Given the description of an element on the screen output the (x, y) to click on. 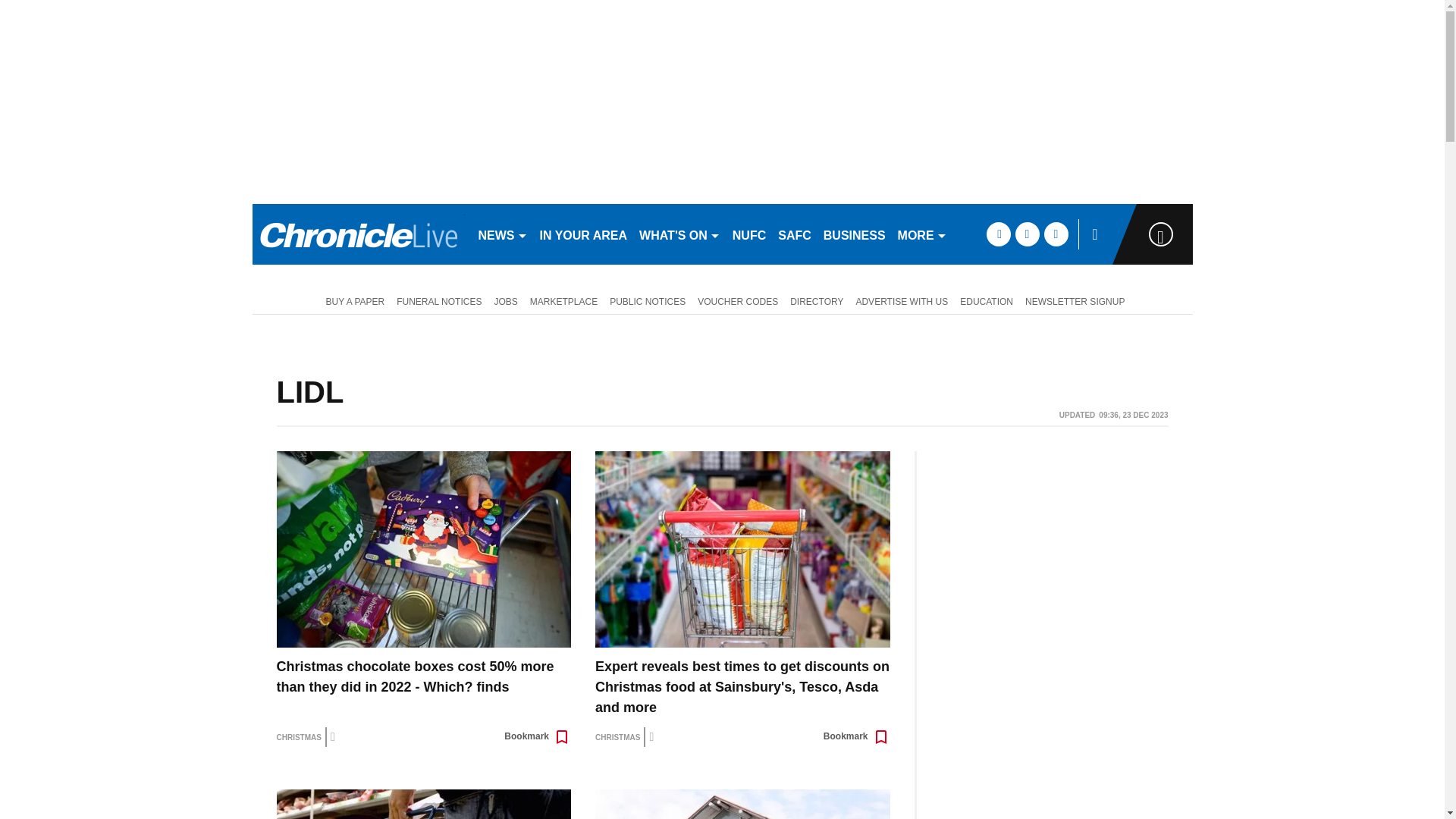
BUSINESS (853, 233)
WHAT'S ON (679, 233)
nechronicle (357, 233)
facebook (997, 233)
IN YOUR AREA (583, 233)
instagram (1055, 233)
NUFC (748, 233)
twitter (1026, 233)
MORE (922, 233)
NEWS (501, 233)
SAFC (793, 233)
